Given the description of an element on the screen output the (x, y) to click on. 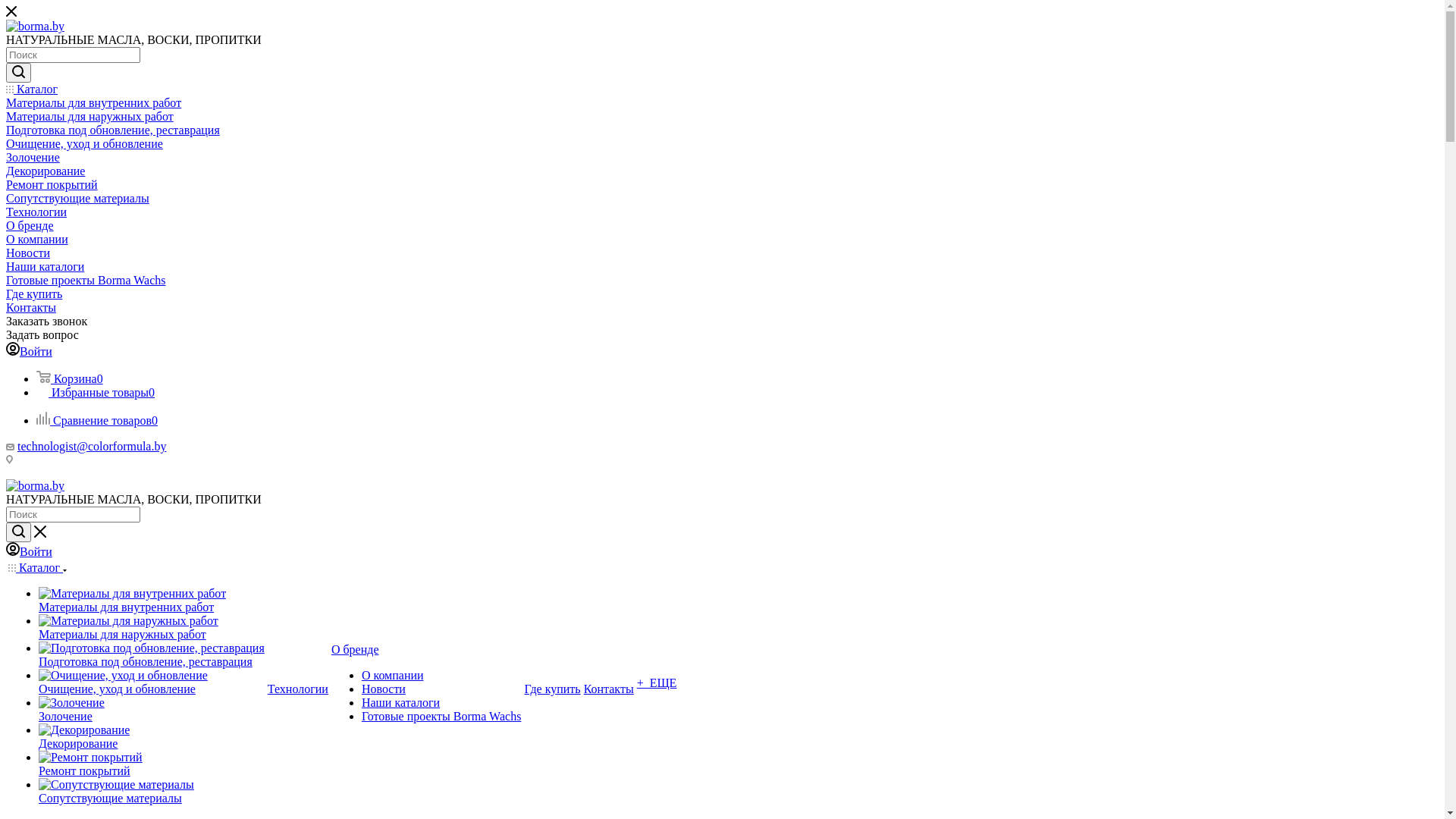
borma.by Element type: hover (35, 26)
borma.by Element type: hover (35, 485)
technologist@colorformula.by Element type: text (91, 445)
